Given the description of an element on the screen output the (x, y) to click on. 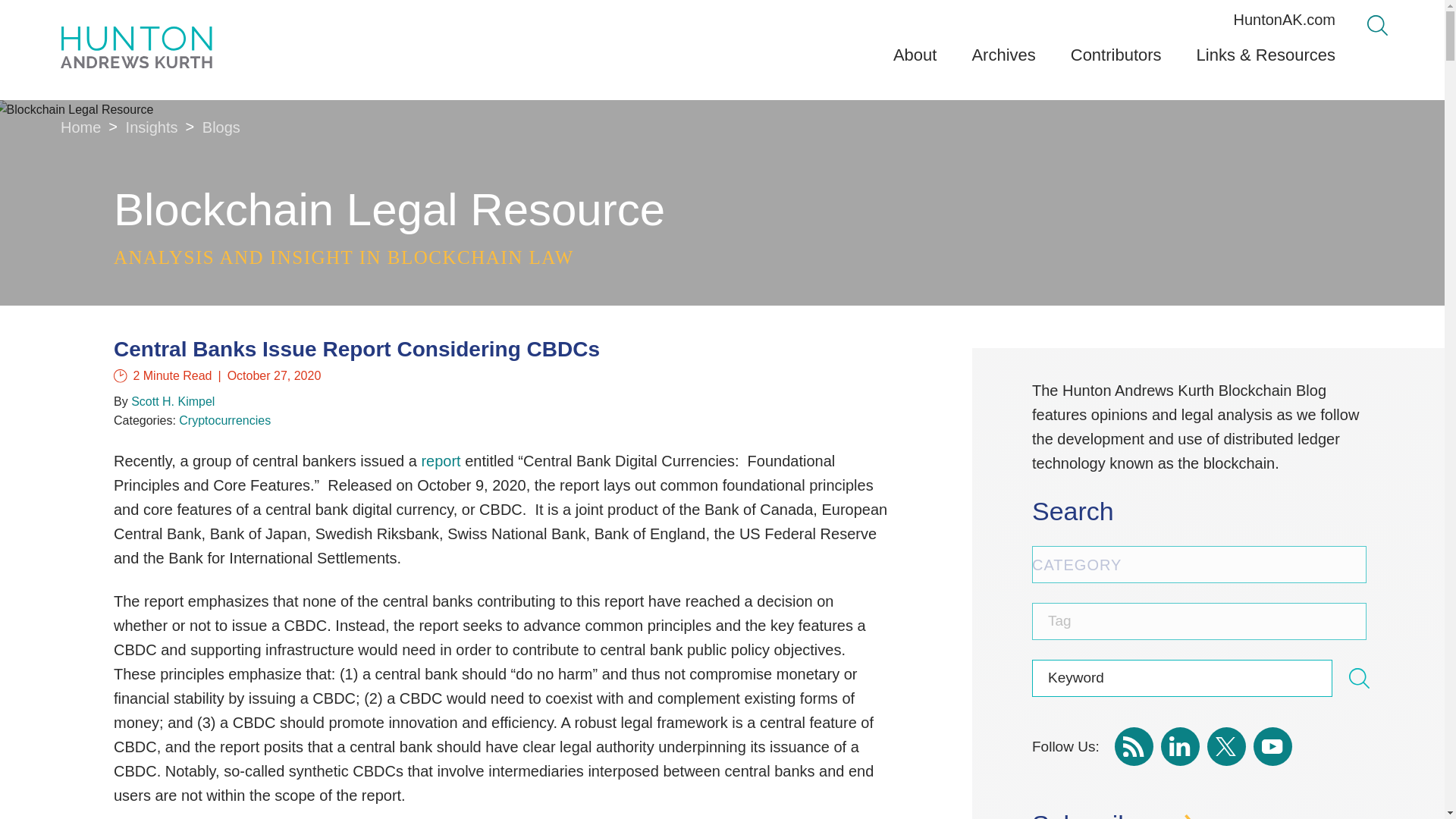
Subscribe (1208, 814)
Blogs (221, 126)
HuntonAK.com (1284, 19)
X (1226, 746)
report (440, 460)
Menu (680, 17)
Scott H. Kimpel (172, 400)
Youtube (1272, 746)
Linkedin (1179, 746)
About (915, 60)
